Given the description of an element on the screen output the (x, y) to click on. 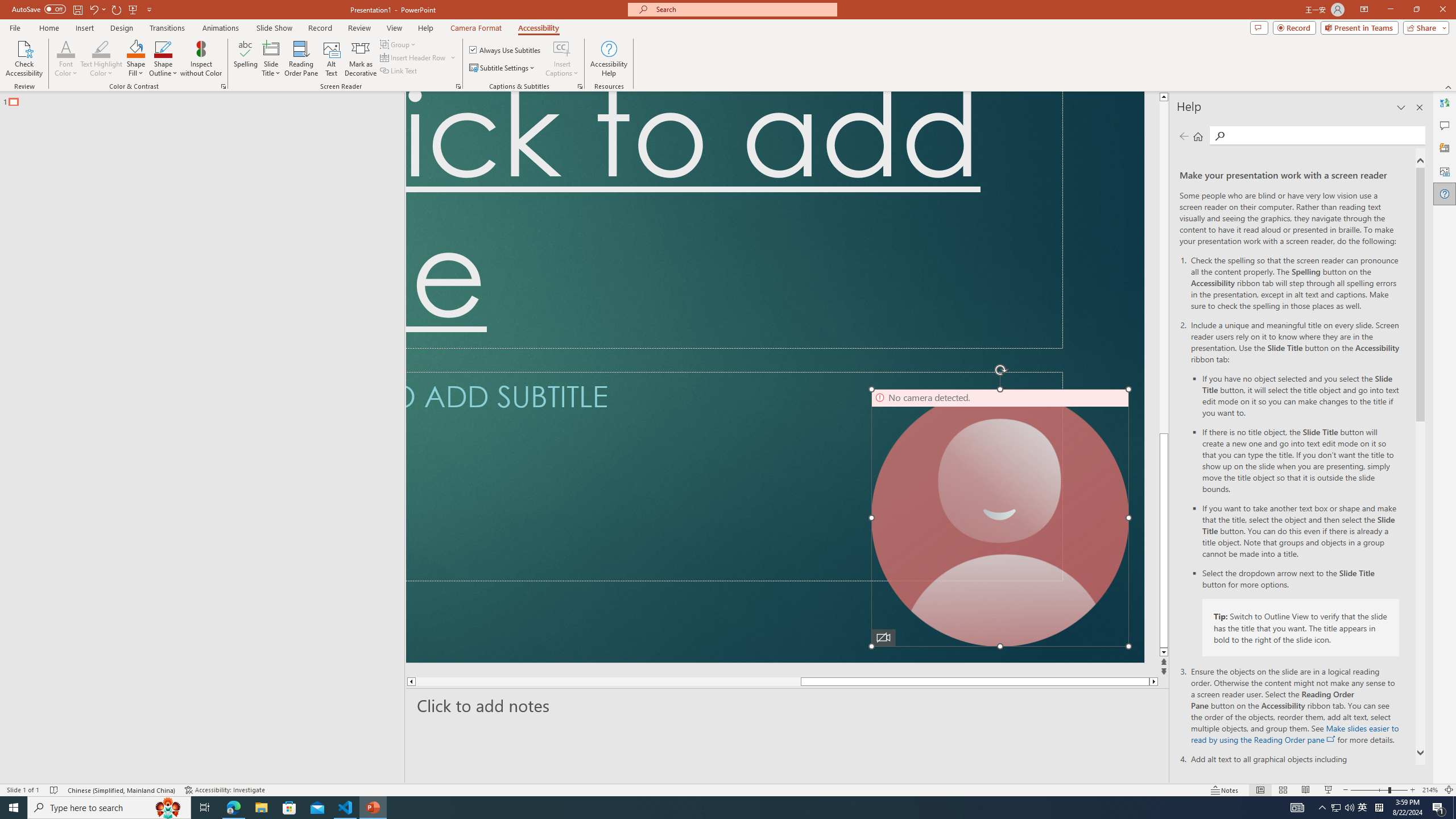
Close (1435, 11)
Increase Text Size (1413, 773)
Print Layout (1254, 773)
Web Layout (1287, 773)
File Tab (25, 11)
Notion (917, 800)
Class: MsoCommandBar (728, 773)
Auto-hide Reading Toolbar (1312, 11)
Restore Down (1394, 11)
Poe (842, 800)
OK (734, 440)
